Given the description of an element on the screen output the (x, y) to click on. 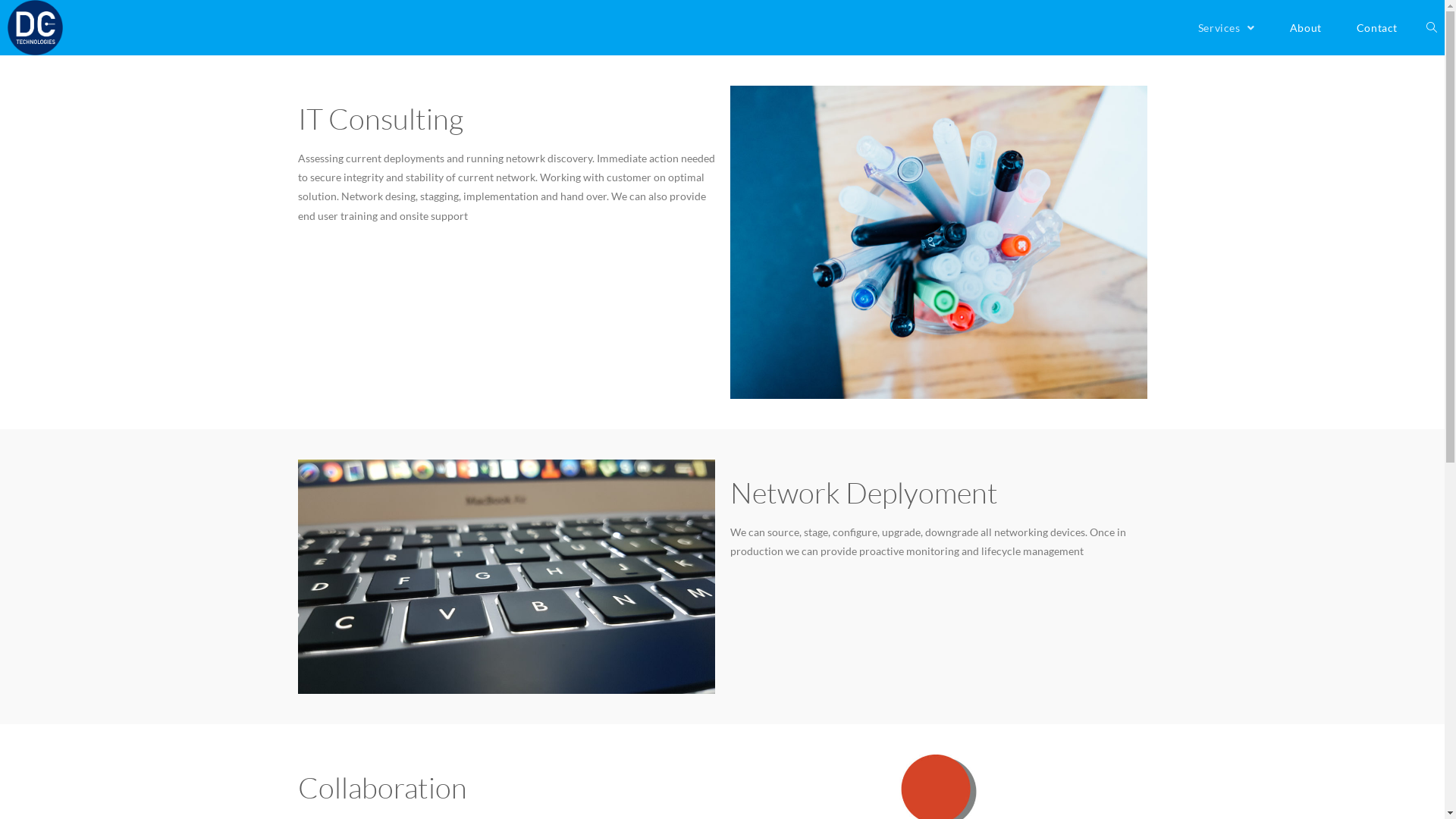
Services Element type: text (1226, 27)
Contact Element type: text (1377, 27)
About Element type: text (1305, 27)
